Given the description of an element on the screen output the (x, y) to click on. 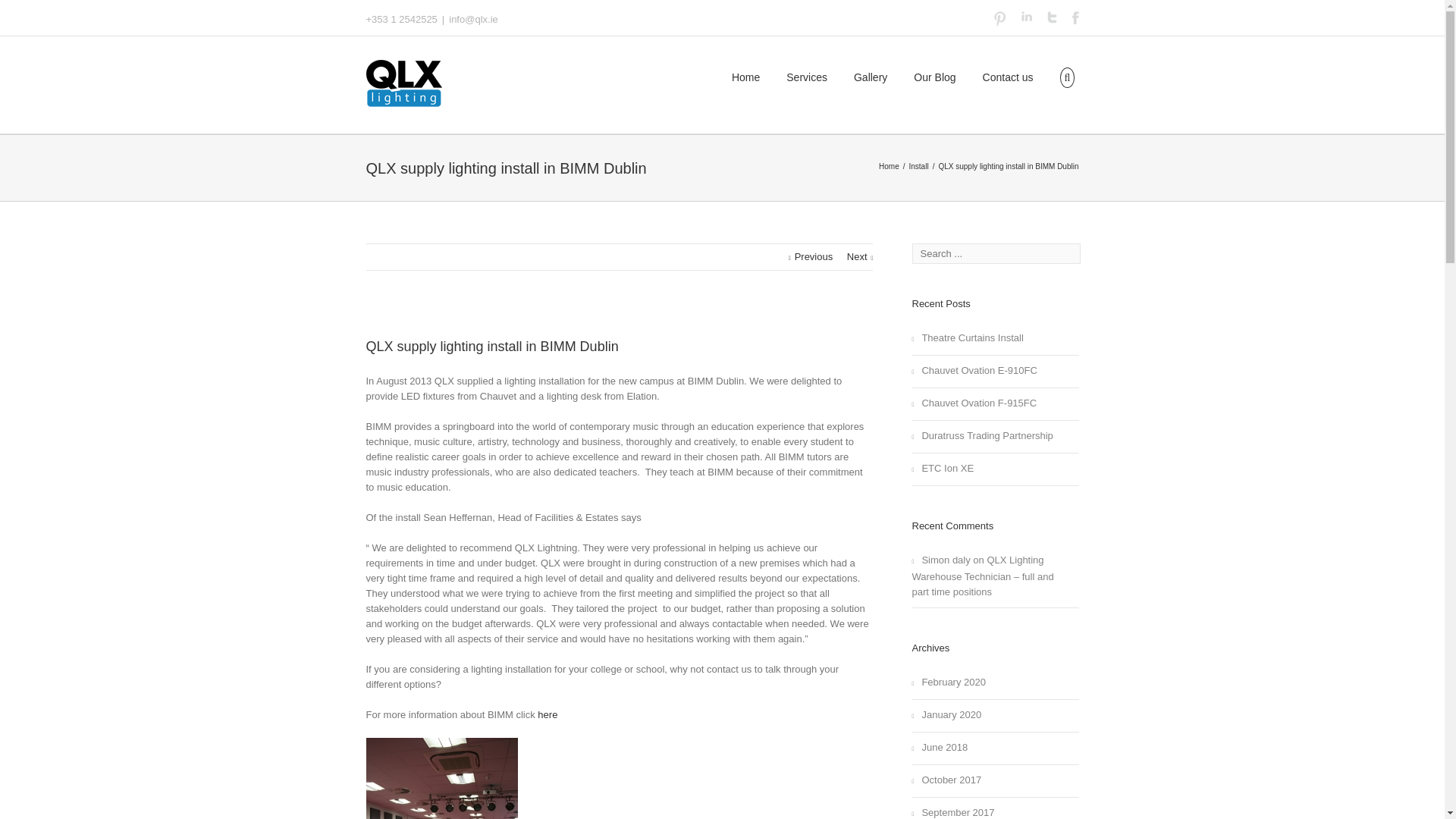
Previous (810, 256)
QLX supply lighting install in BIMM Dublin (491, 346)
BIMM (547, 714)
Next (860, 256)
Install (919, 166)
Install (919, 166)
LinkedIn (1025, 16)
here (547, 714)
Home (890, 166)
